Given the description of an element on the screen output the (x, y) to click on. 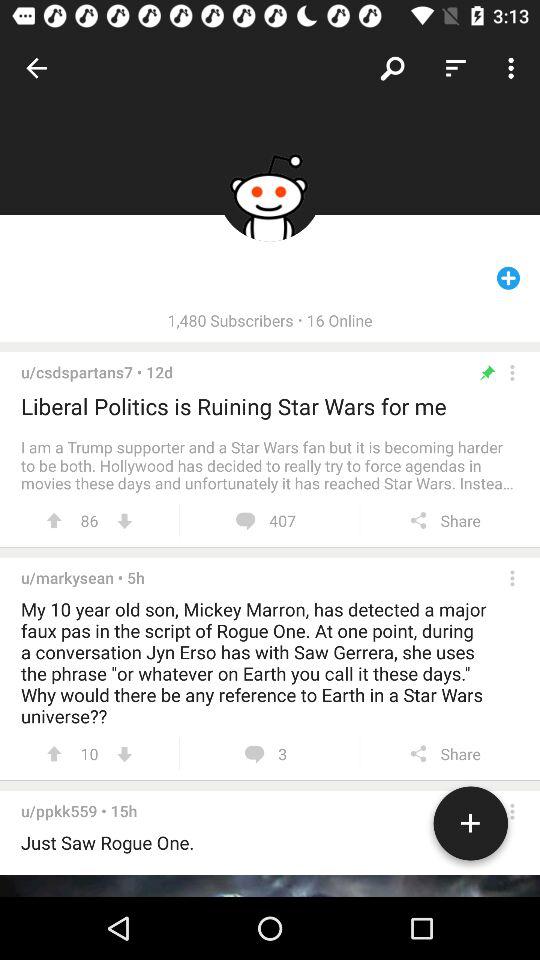
more options (512, 372)
